Given the description of an element on the screen output the (x, y) to click on. 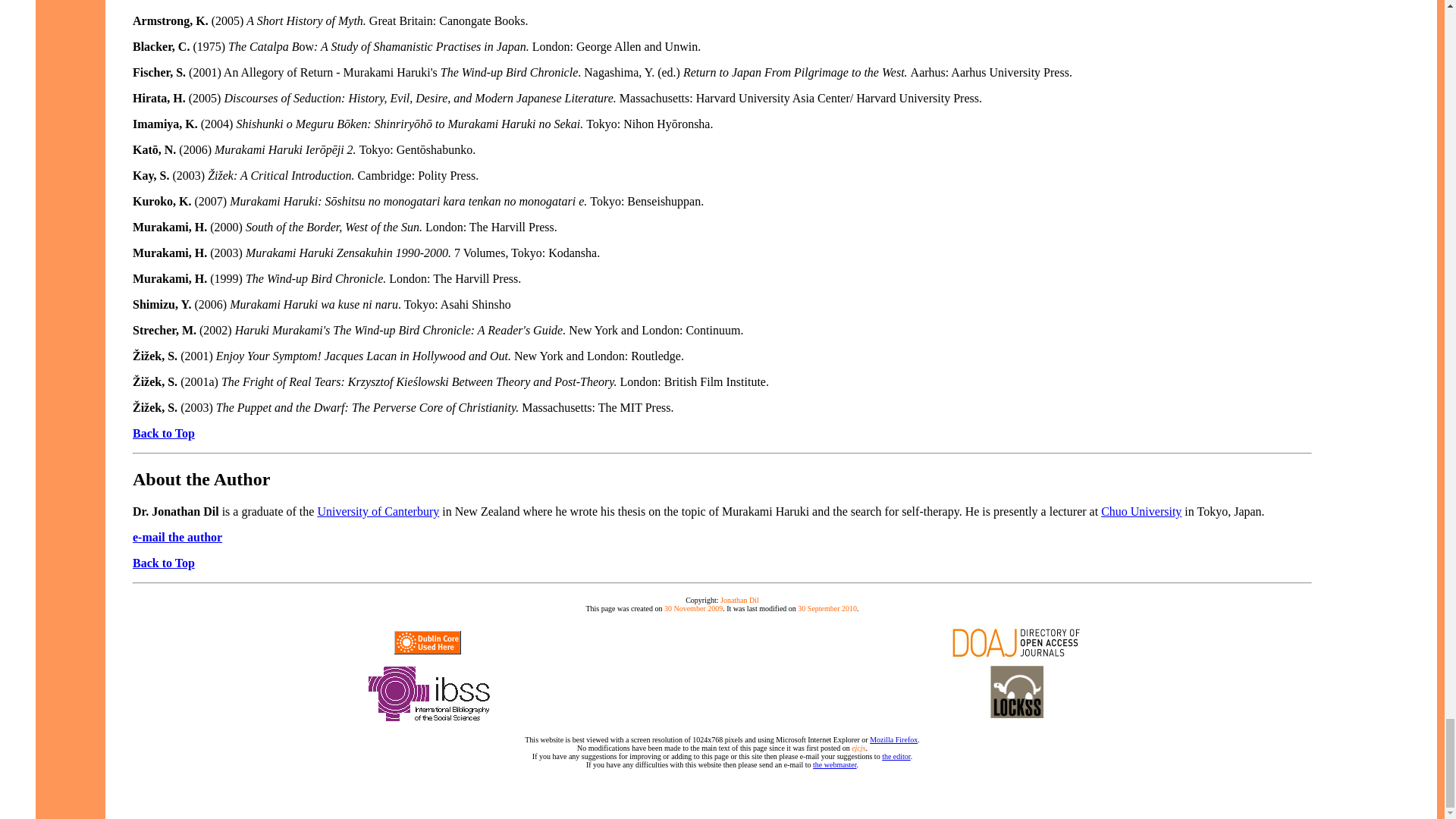
Back to Top (163, 432)
Chuo University (1140, 511)
About the Author (200, 478)
Back to Top (163, 562)
the editor (896, 756)
e-mail the author (177, 536)
the webmaster (834, 764)
University of Canterbury (378, 511)
Mozilla Firefox (893, 739)
